Given the description of an element on the screen output the (x, y) to click on. 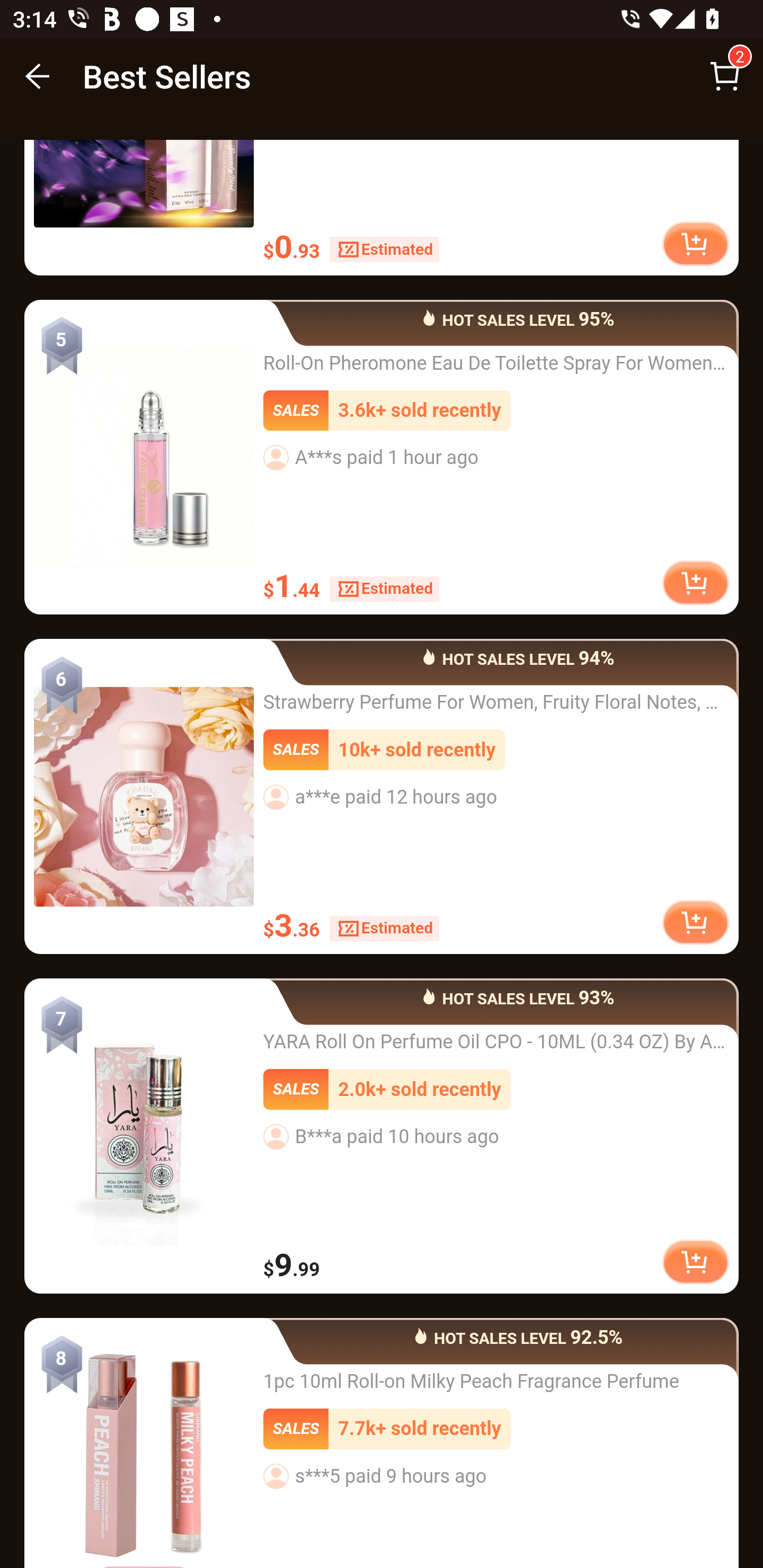
BACK (38, 75)
Cart 2 (724, 75)
add to cart (695, 245)
add to cart (695, 583)
add to cart (695, 924)
add to cart (695, 1262)
1pc 10ml Roll-on Milky Peach Fragrance Perfume (143, 1448)
